Given the description of an element on the screen output the (x, y) to click on. 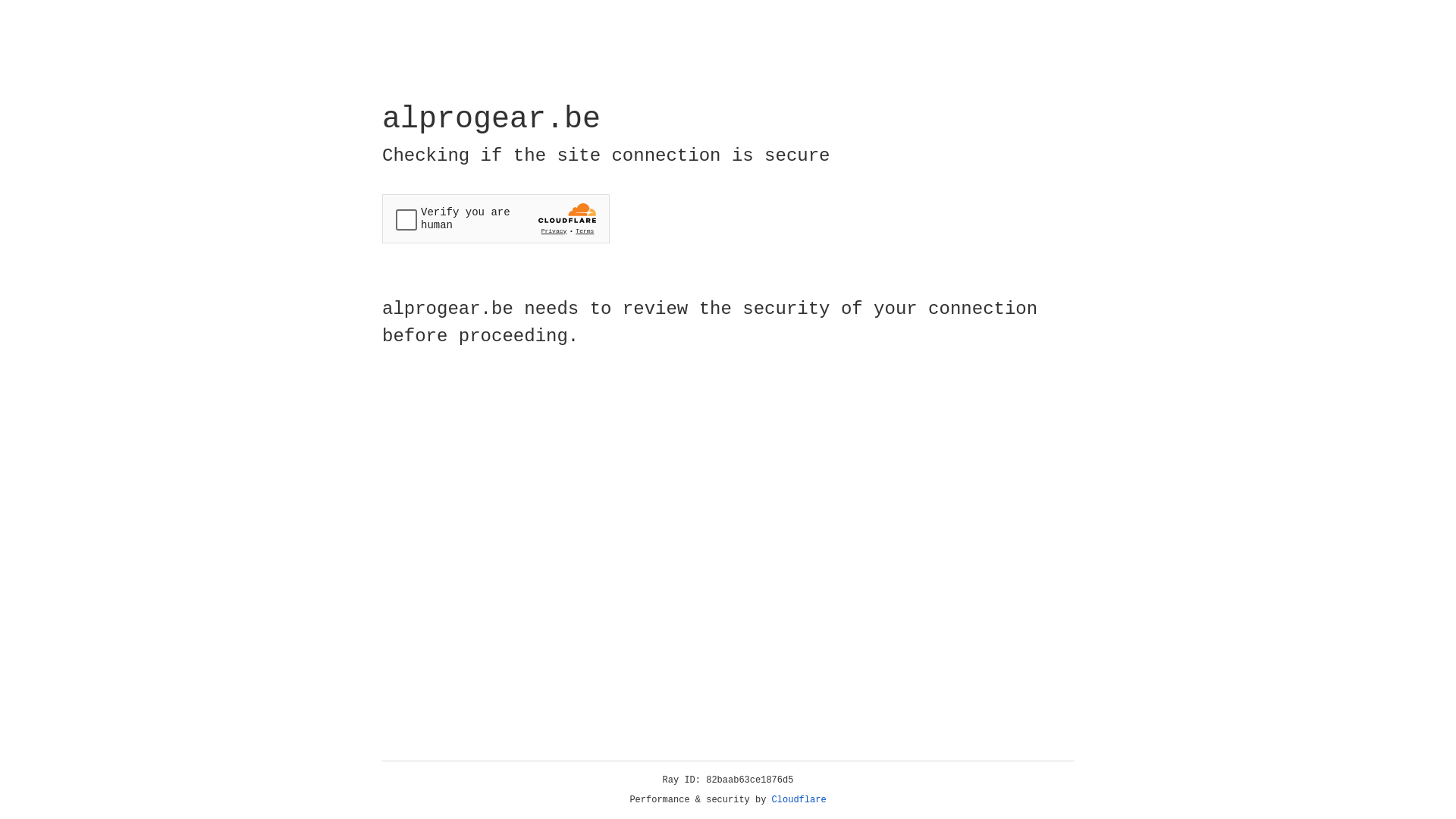
Cloudflare Element type: text (798, 799)
Widget containing a Cloudflare security challenge Element type: hover (495, 218)
